Given the description of an element on the screen output the (x, y) to click on. 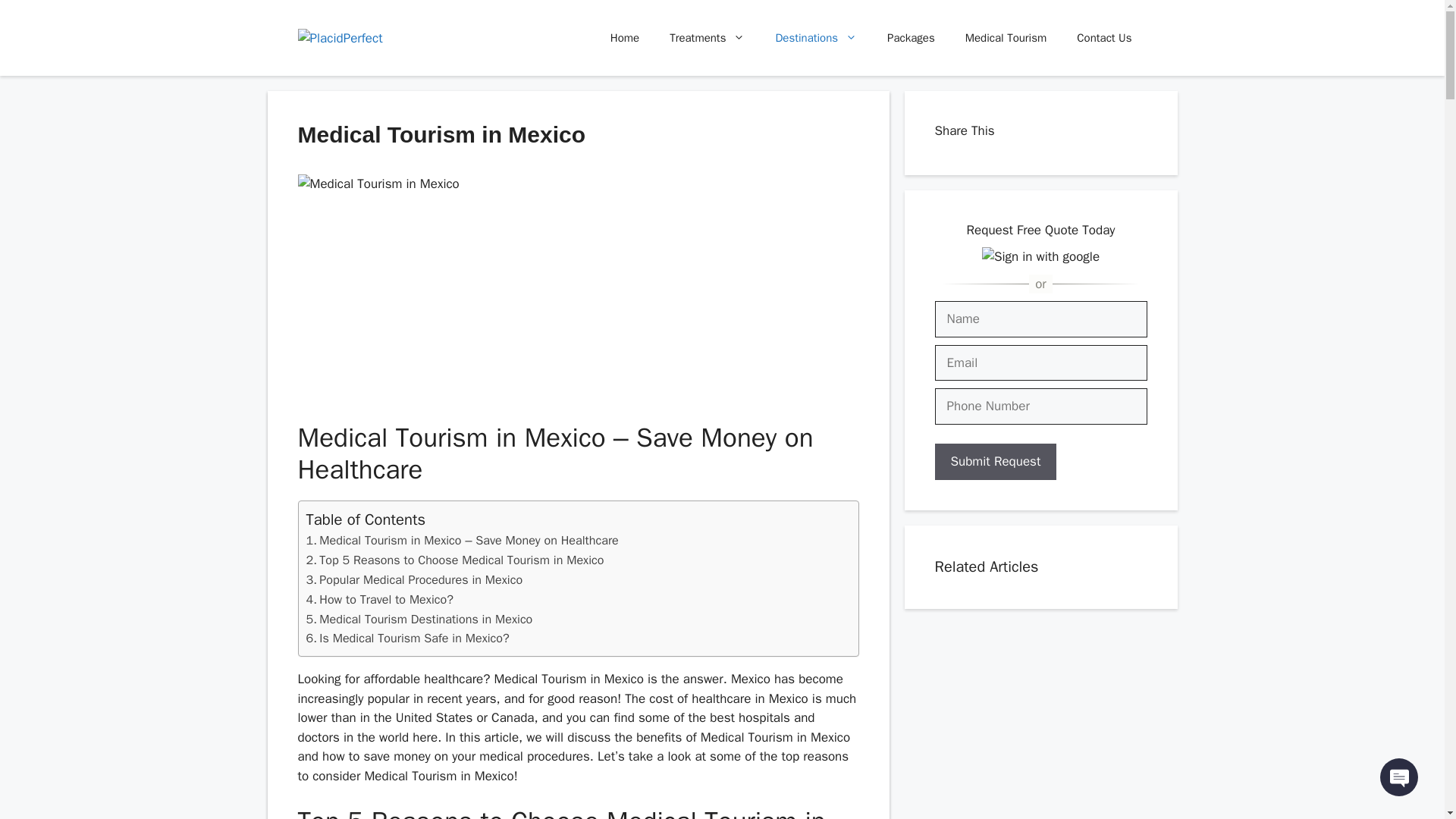
Destinations (816, 37)
Top 5 Reasons to Choose Medical Tourism in Mexico (454, 560)
Medical Tourism (1006, 37)
Packages (911, 37)
Contact Us (1104, 37)
Popular Medical Procedures in Mexico (413, 579)
Is Medical Tourism Safe in Mexico? (407, 638)
Medical Tourism Destinations in Mexico (418, 619)
Treatments (706, 37)
Mexico Medical Tourism (578, 288)
Medical Tourism Destinations in Mexico (418, 619)
Home (624, 37)
How to Travel to Mexico? (378, 599)
How to Travel to Mexico? (378, 599)
Top 5 Reasons to Choose Medical Tourism in Mexico (454, 560)
